Given the description of an element on the screen output the (x, y) to click on. 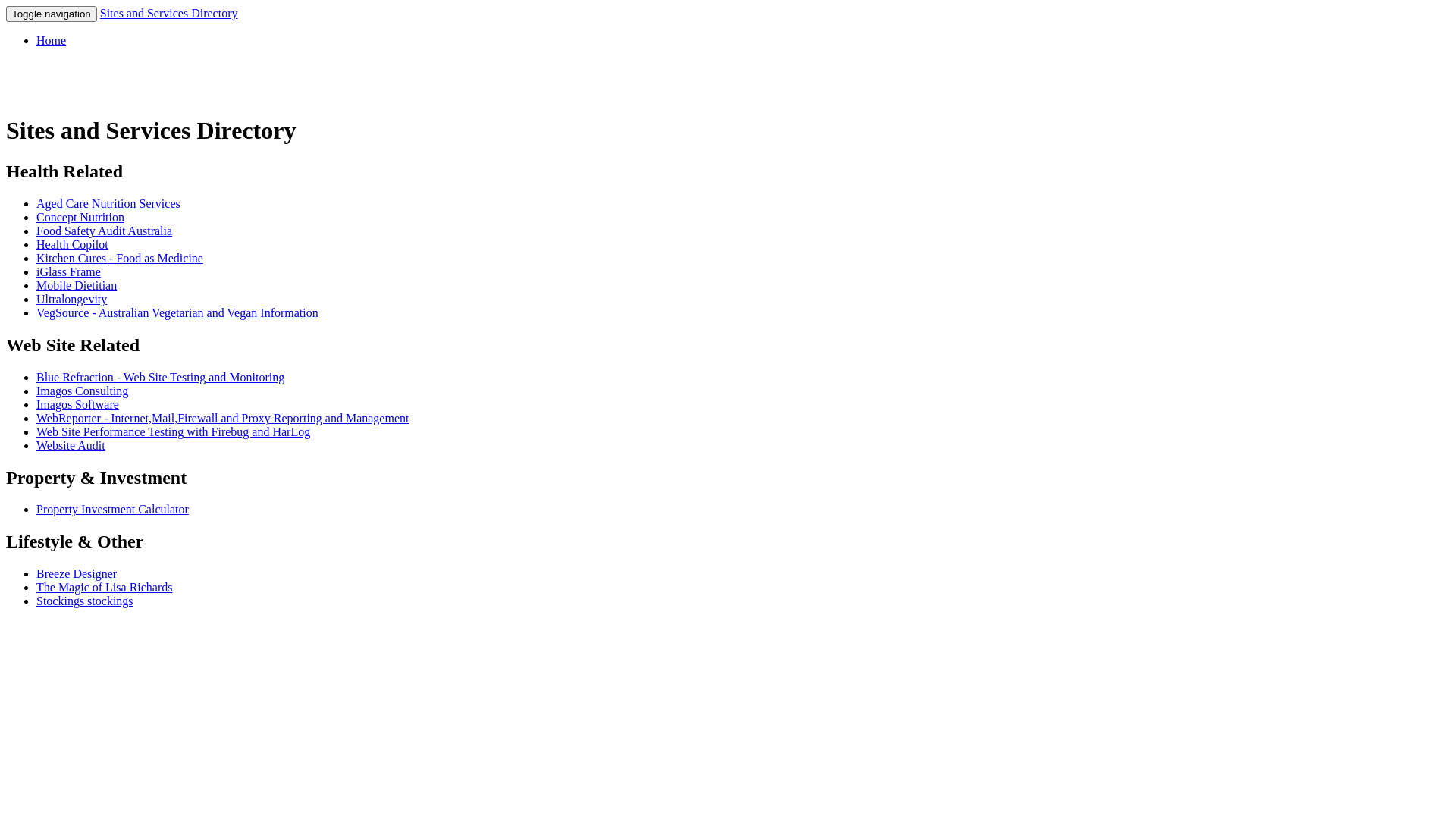
Advertisement Element type: hover (183, 642)
Home Element type: text (50, 40)
Ultralongevity Element type: text (71, 298)
Food Safety Audit Australia Element type: text (104, 230)
Blue Refraction - Web Site Testing and Monitoring Element type: text (160, 376)
Kitchen Cures - Food as Medicine Element type: text (119, 257)
Concept Nutrition Element type: text (80, 216)
iGlass Frame Element type: text (68, 271)
VegSource - Australian Vegetarian and Vegan Information Element type: text (177, 312)
Web Site Performance Testing with Firebug and HarLog Element type: text (173, 431)
Breeze Designer Element type: text (76, 573)
Website Audit Element type: text (70, 445)
Health Copilot Element type: text (72, 244)
Imagos Software Element type: text (77, 404)
Toggle navigation Element type: text (51, 13)
Mobile Dietitian Element type: text (76, 285)
Aged Care Nutrition Services Element type: text (108, 203)
Stockings stockings Element type: text (84, 600)
Sites and Services Directory Element type: text (169, 12)
The Magic of Lisa Richards Element type: text (104, 586)
Property Investment Calculator Element type: text (112, 508)
Imagos Consulting Element type: text (82, 390)
